Given the description of an element on the screen output the (x, y) to click on. 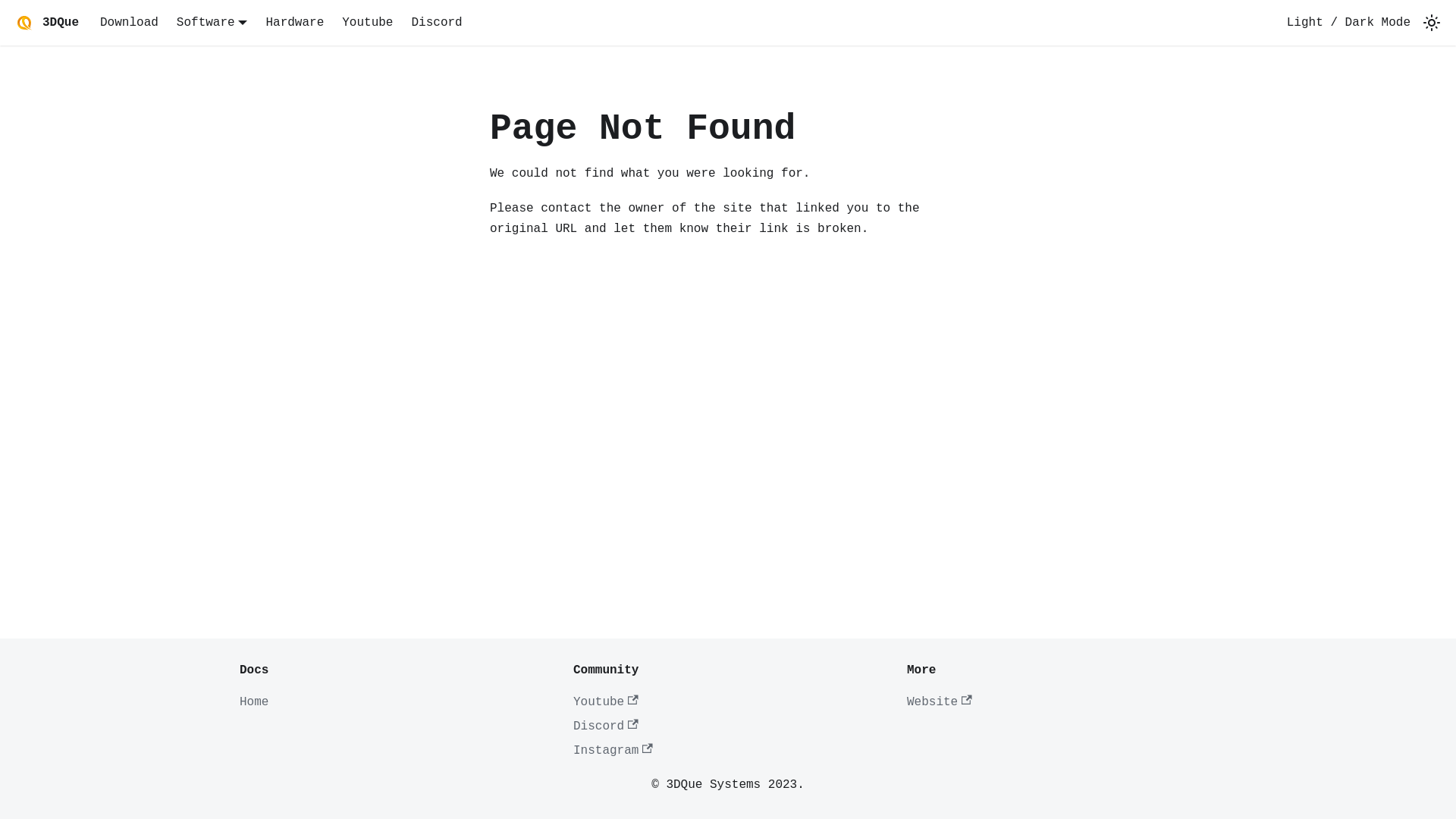
Switch between dark and light mode (currently light mode) Element type: hover (1431, 22)
Website Element type: text (939, 702)
Discord Element type: text (435, 22)
Youtube Element type: text (366, 22)
Hardware Element type: text (294, 22)
Youtube Element type: text (605, 702)
Home Element type: text (253, 702)
3DQue Element type: text (45, 22)
Download Element type: text (129, 22)
Software Element type: text (211, 22)
Instagram Element type: text (612, 750)
Discord Element type: text (605, 726)
